Given the description of an element on the screen output the (x, y) to click on. 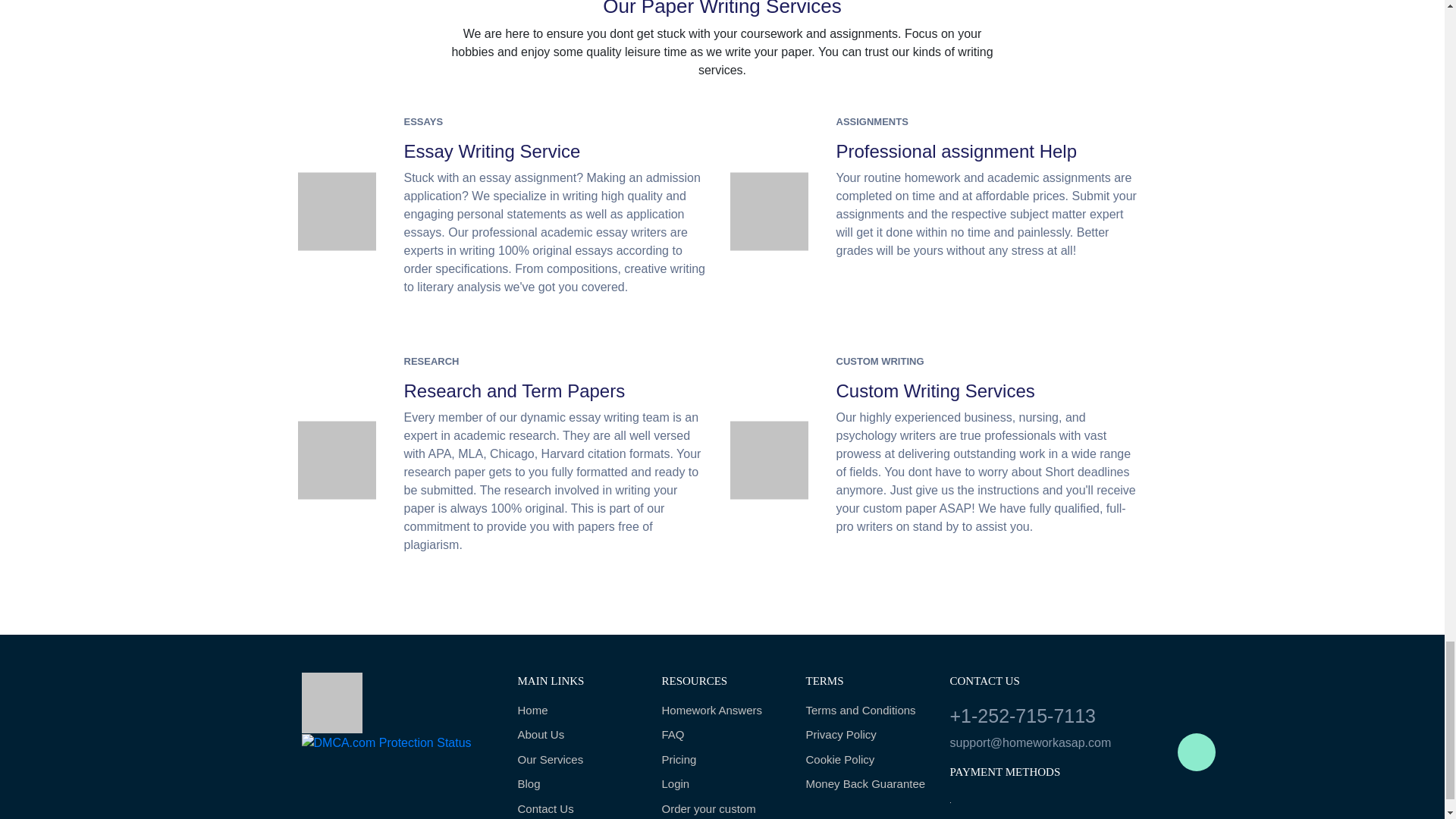
Privacy Policy (865, 734)
About Us (577, 734)
Cookie Policy (865, 760)
Our Services (577, 760)
FAQ (722, 734)
Money Back Guarantee (865, 784)
Home (577, 710)
Homework Answers (722, 710)
Home (577, 710)
Contact Us (577, 809)
